Given the description of an element on the screen output the (x, y) to click on. 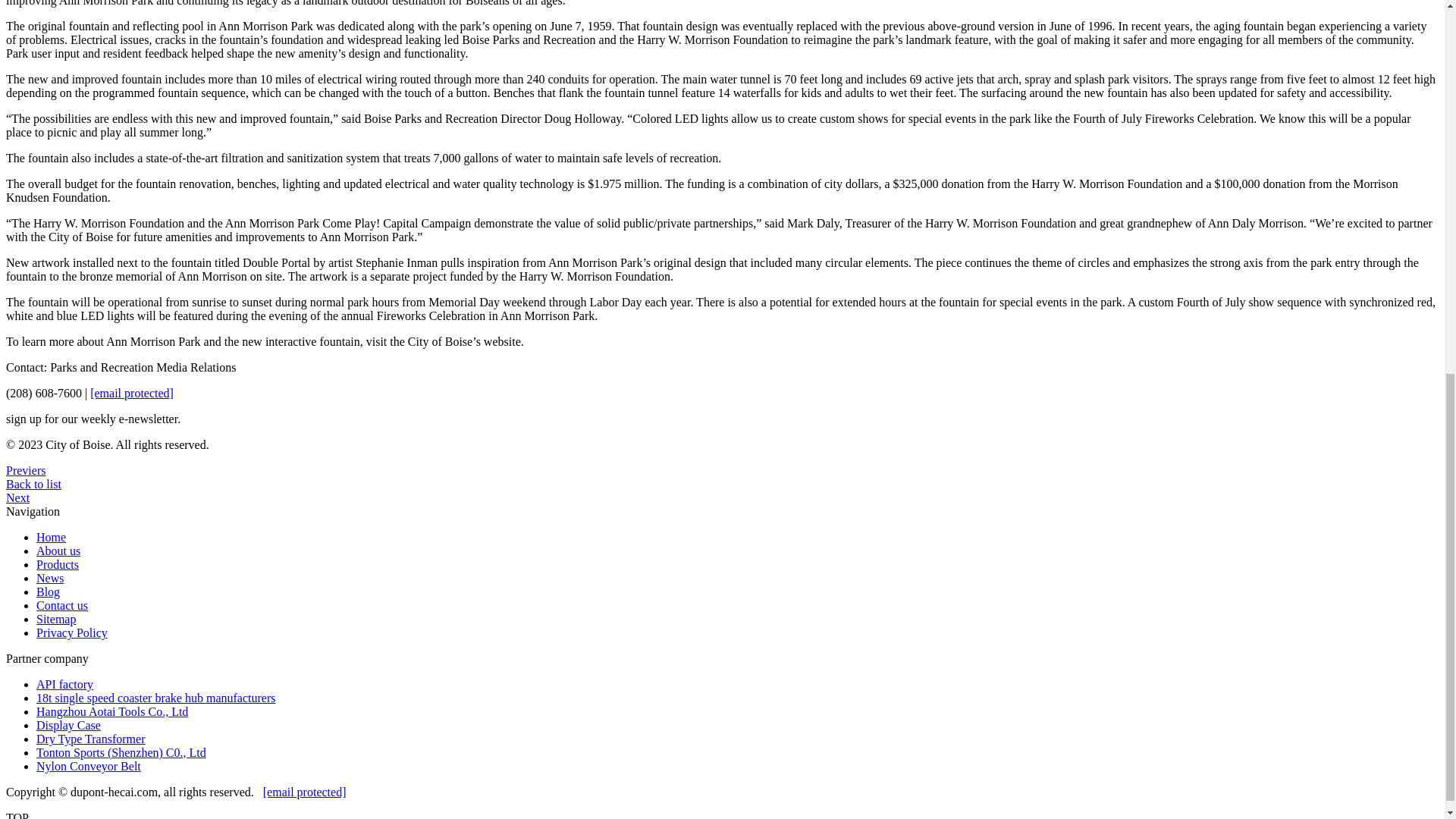
Contact us (61, 604)
Blog (47, 591)
Next (17, 497)
Back to list (33, 483)
The Columbus Dispatch (17, 497)
Products (57, 563)
About us (58, 550)
Unseasonably warm temperatures in the 90s in the valley (25, 470)
News (50, 577)
Sitemap (55, 618)
Previers (25, 470)
Home (50, 536)
